Given the description of an element on the screen output the (x, y) to click on. 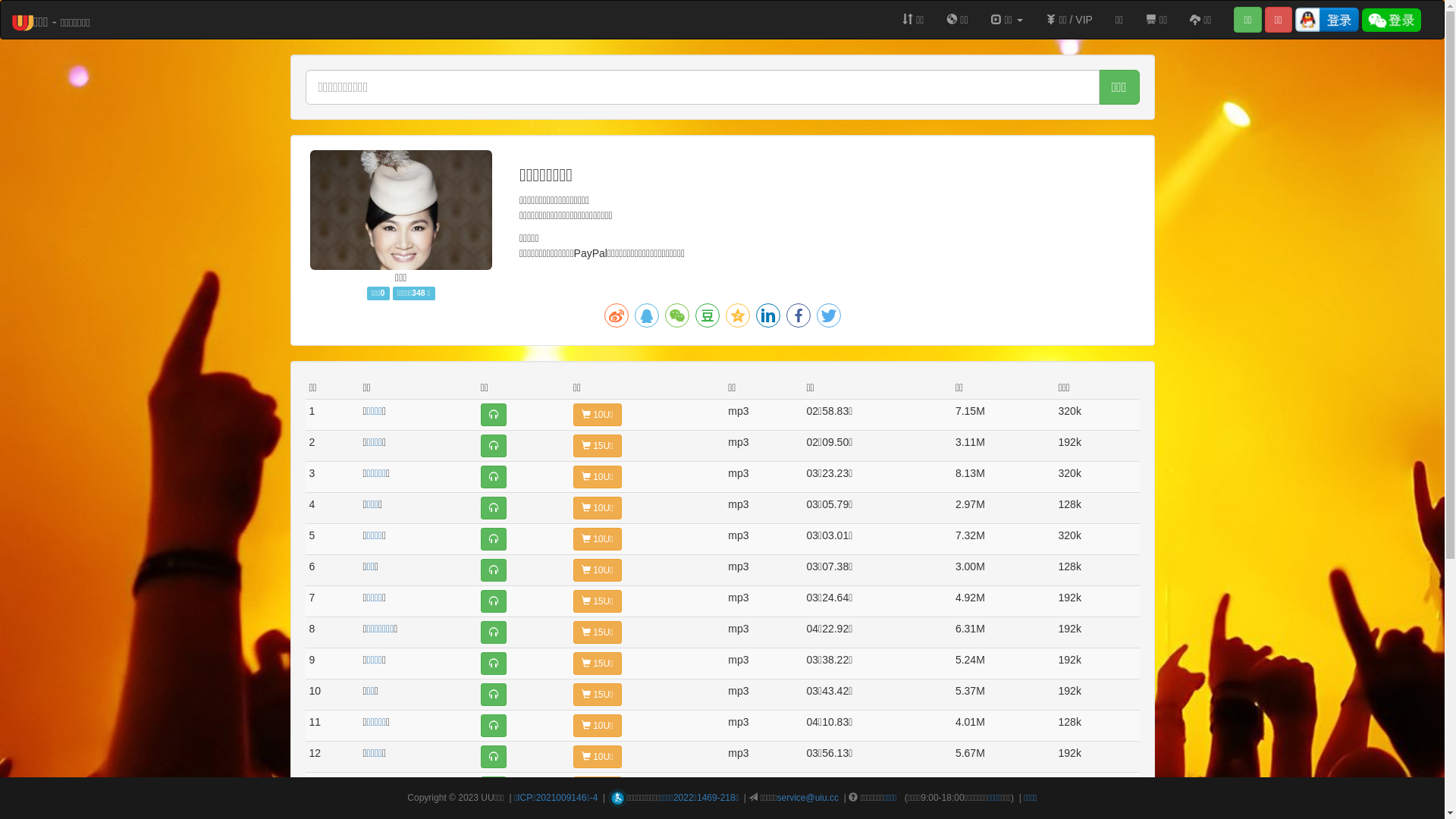
service@uiu.cc Element type: text (807, 797)
